Given the description of an element on the screen output the (x, y) to click on. 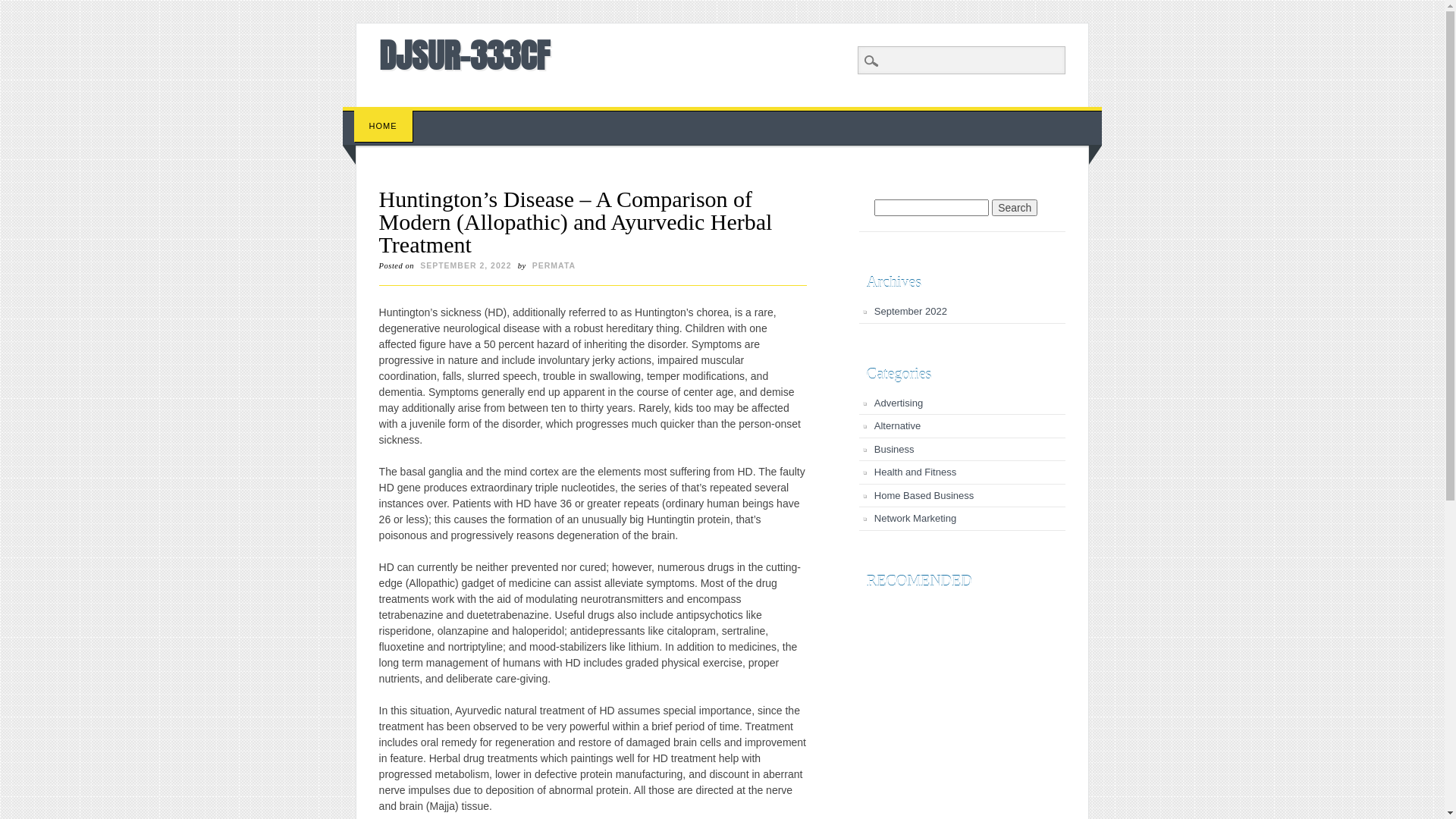
Network Marketing Element type: text (915, 518)
SEPTEMBER 2, 2022 Element type: text (465, 264)
September 2022 Element type: text (910, 310)
Skip to content Element type: text (377, 114)
Home Based Business Element type: text (924, 495)
Business Element type: text (894, 449)
DJSUR-333CF Element type: text (464, 55)
Search Element type: text (22, 8)
Alternative Element type: text (897, 425)
Health and Fitness Element type: text (915, 471)
PERMATA Element type: text (553, 264)
Search Element type: text (1014, 207)
Advertising Element type: text (898, 402)
HOME Element type: text (383, 125)
